Given the description of an element on the screen output the (x, y) to click on. 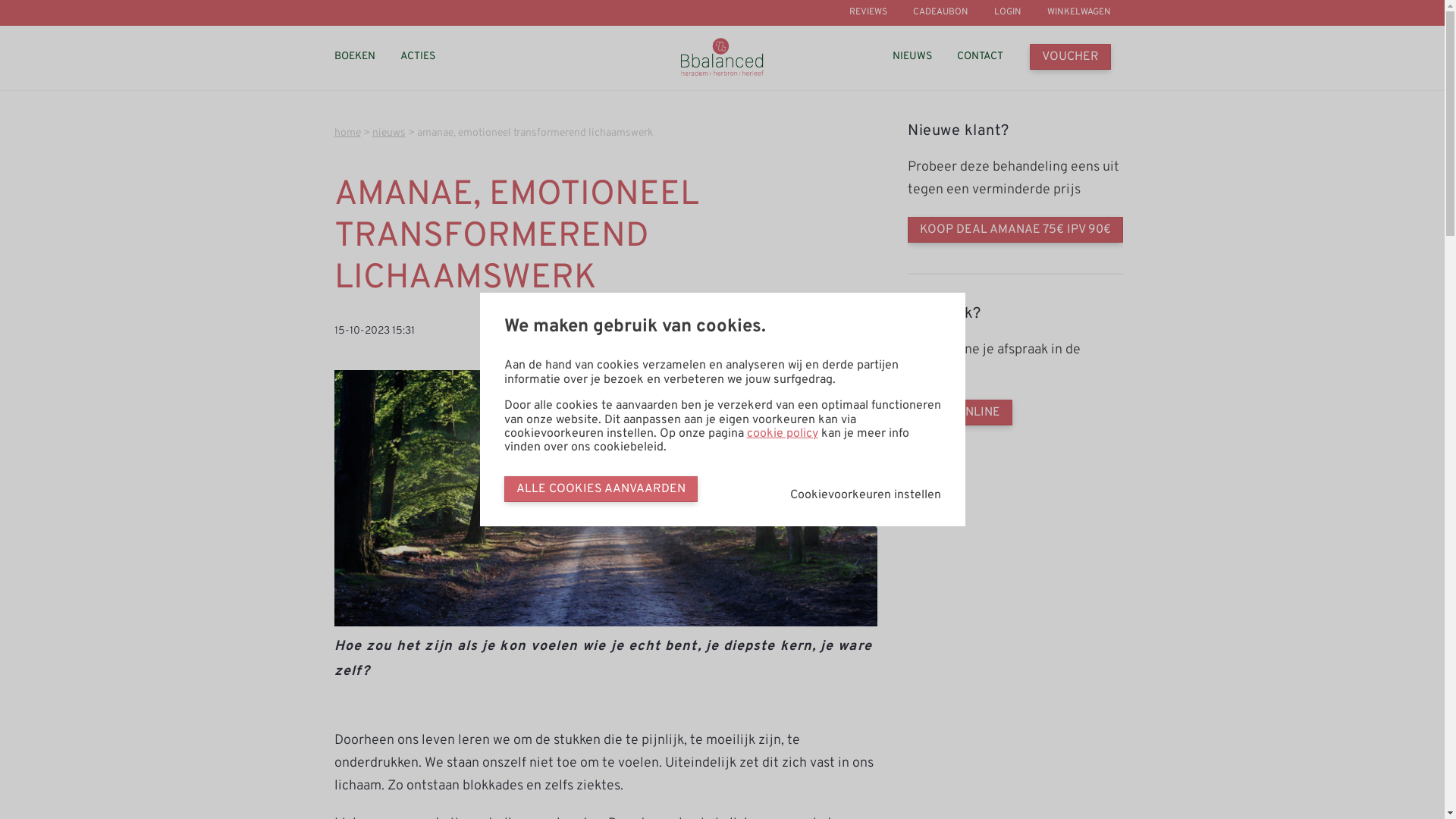
REVIEWS Element type: text (868, 12)
CONTACT Element type: text (980, 56)
VOUCHER Element type: text (1069, 56)
ACTIES Element type: text (417, 56)
cookie policy Element type: text (781, 433)
LOGIN Element type: text (1006, 12)
ALLE COOKIES AANVAARDEN Element type: text (600, 488)
BOEK ONLINE Element type: text (959, 412)
WINKELWAGEN Element type: text (1078, 12)
CADEAUBON Element type: text (940, 12)
home Element type: text (346, 132)
NIEUWS Element type: text (911, 56)
BOEKEN Element type: text (353, 56)
nieuws Element type: text (387, 132)
